Given the description of an element on the screen output the (x, y) to click on. 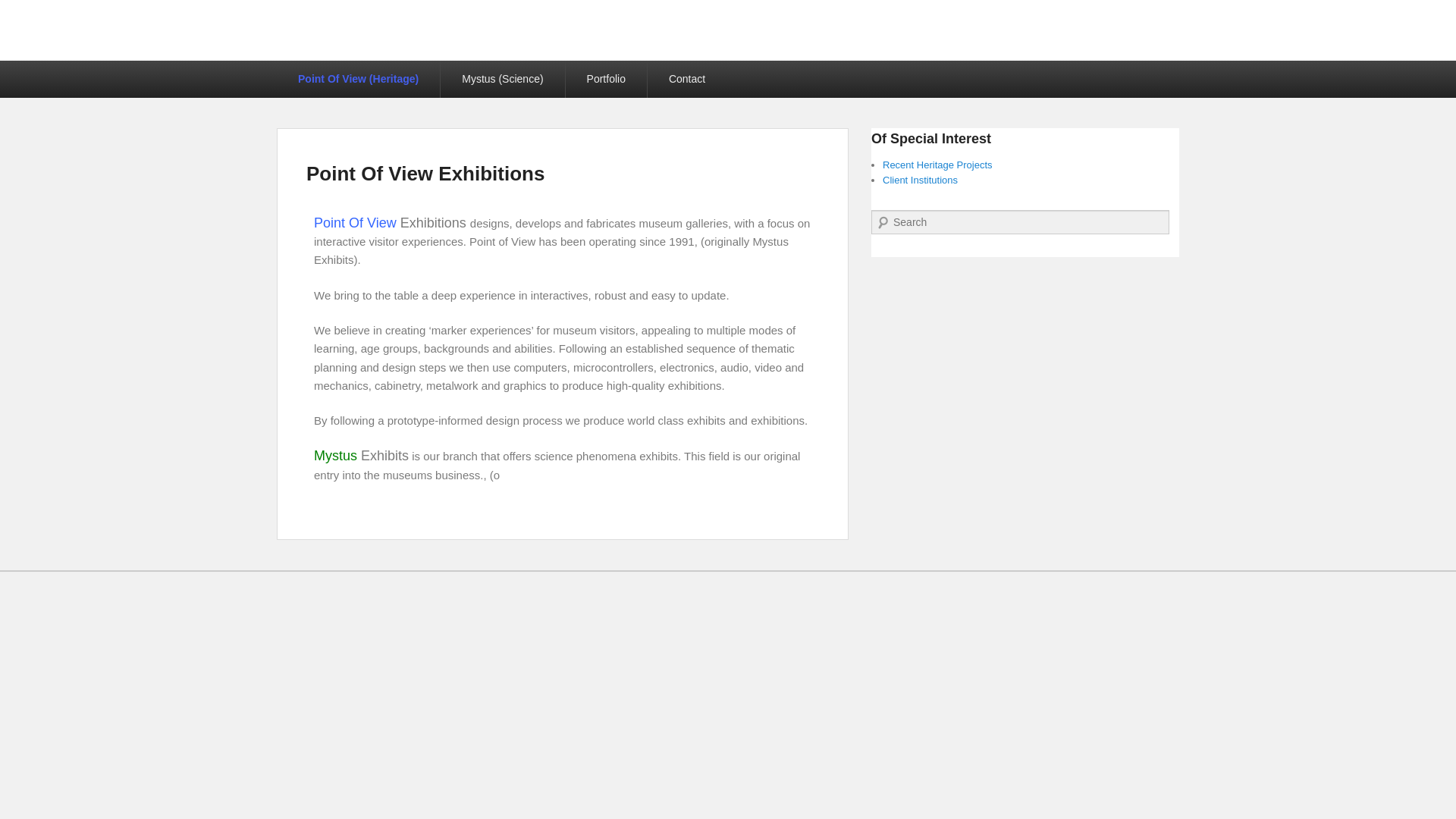
Point Of View Exhibitions (424, 173)
Contact (686, 78)
Skip to primary content (58, 69)
Skip to secondary content (65, 69)
Skip to secondary content (65, 69)
Client Institutions (920, 179)
Recent Heritage Projects (937, 164)
Portfolio (606, 78)
Search (21, 11)
Skip to primary content (58, 69)
Permalink to Point Of View Exhibitions (424, 173)
Test (606, 78)
